Given the description of an element on the screen output the (x, y) to click on. 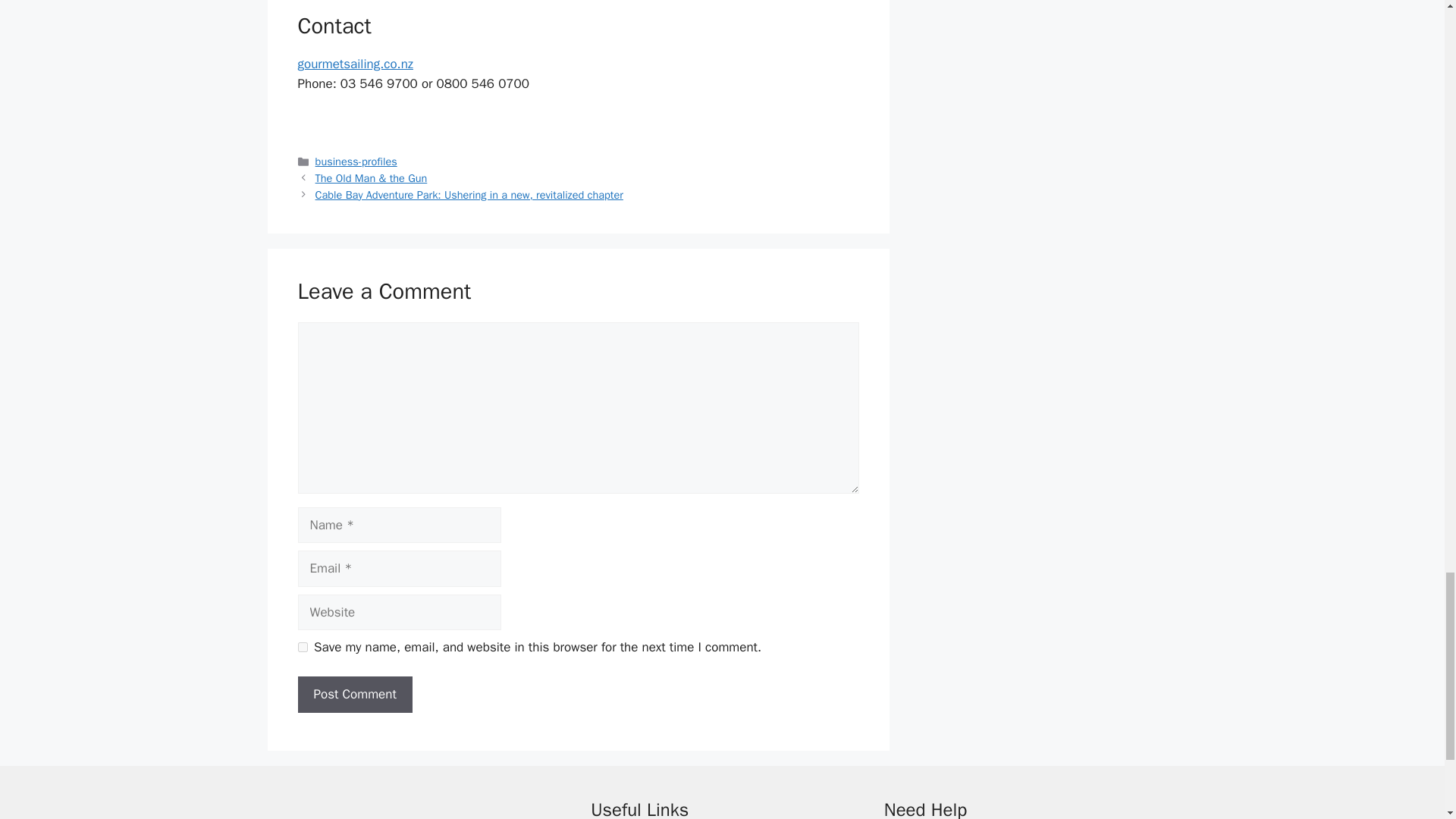
yes (302, 646)
gourmetsailing.co.nz (354, 64)
Post Comment (354, 694)
Page 69 (578, 65)
Page 75 (578, 92)
Post Comment (354, 694)
business-profiles (356, 161)
